Given the description of an element on the screen output the (x, y) to click on. 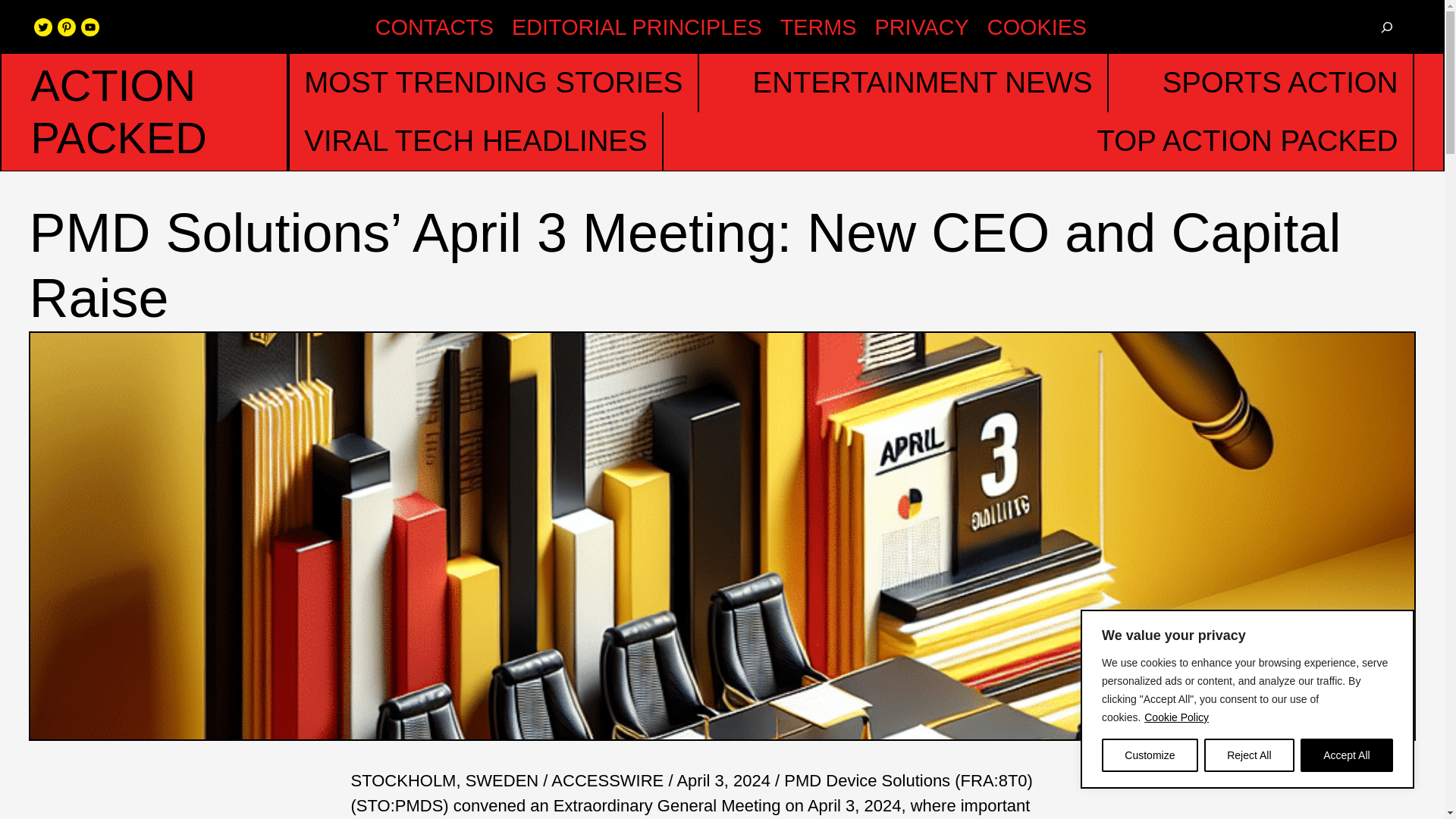
SPORTS ACTION (1279, 83)
Customize (1150, 755)
Accept All (1346, 755)
VIRAL TECH HEADLINES (475, 141)
ENTERTAINMENT NEWS (922, 83)
Pinterest (66, 27)
MOST TRENDING STORIES (493, 83)
COOKIES (1036, 27)
Reject All (1249, 755)
TERMS (818, 27)
